Given the description of an element on the screen output the (x, y) to click on. 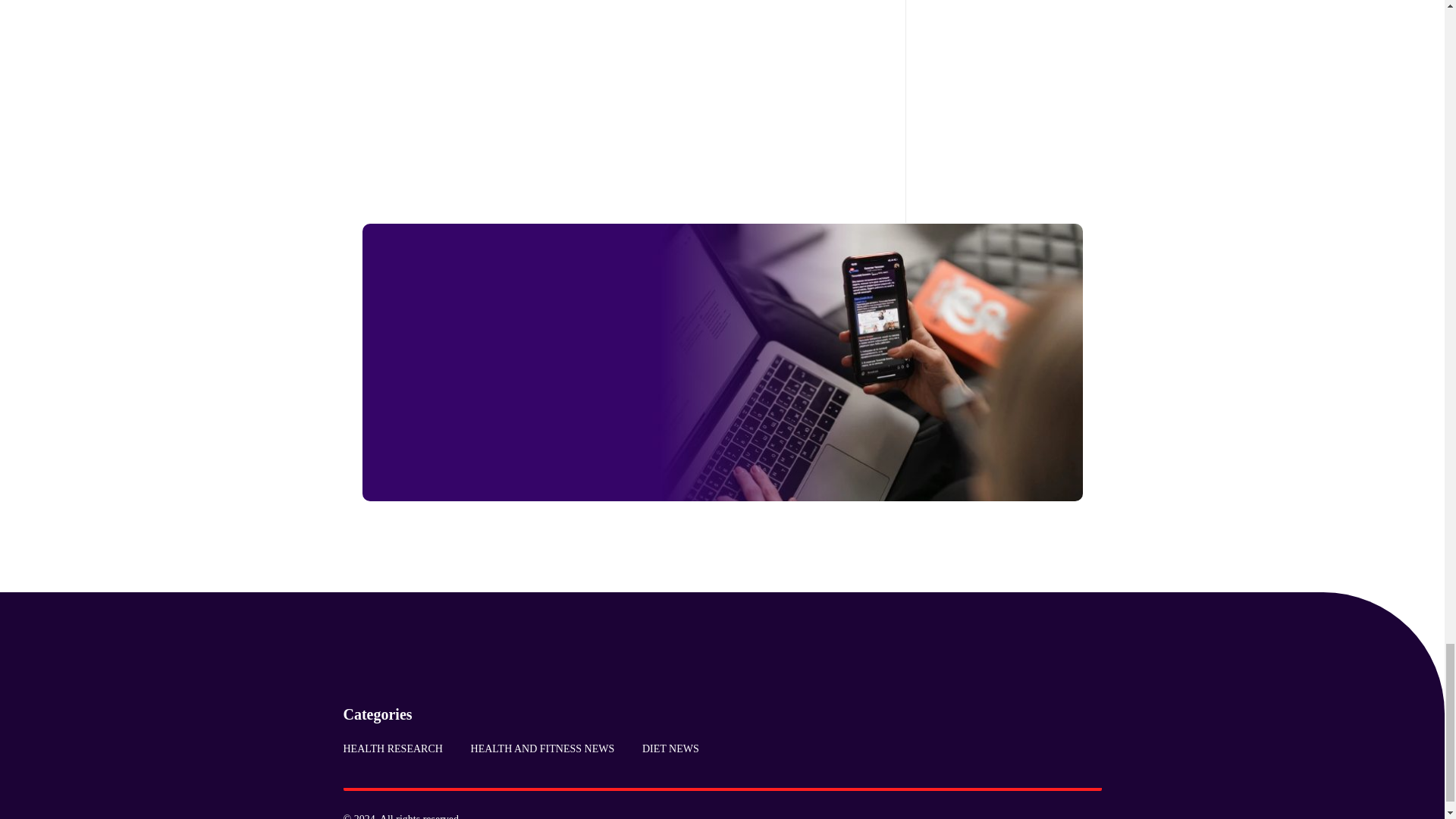
Sign Me Up (534, 448)
DIET NEWS (663, 748)
HEALTH AND FITNESS NEWS (542, 748)
HEALTH RESEARCH (399, 748)
